Given the description of an element on the screen output the (x, y) to click on. 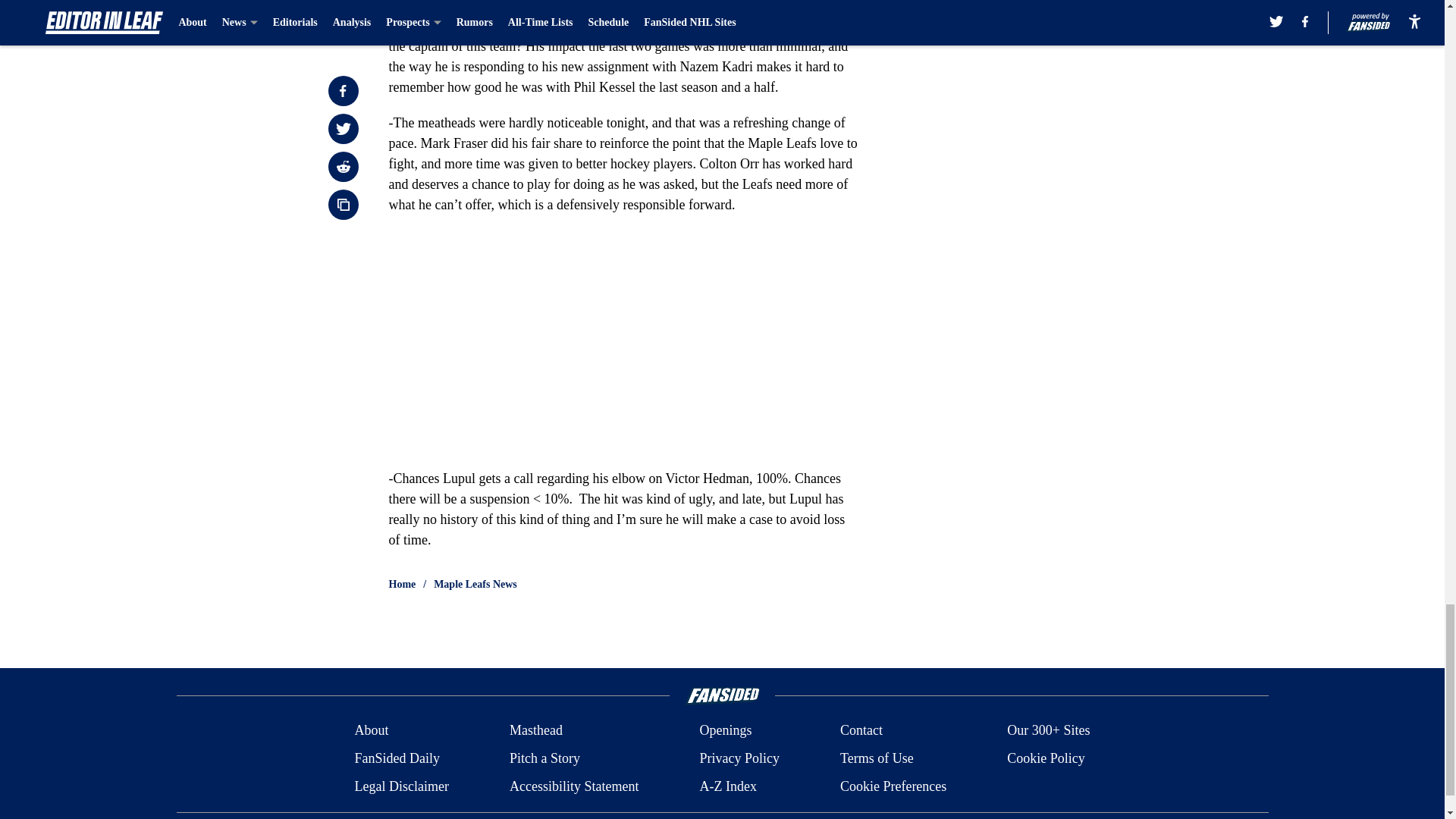
FanSided Daily (396, 758)
Privacy Policy (738, 758)
Contact (861, 730)
Maple Leafs News (474, 584)
About (370, 730)
Openings (724, 730)
Masthead (535, 730)
Home (401, 584)
Terms of Use (877, 758)
Pitch a Story (544, 758)
Cookie Policy (1045, 758)
